Given the description of an element on the screen output the (x, y) to click on. 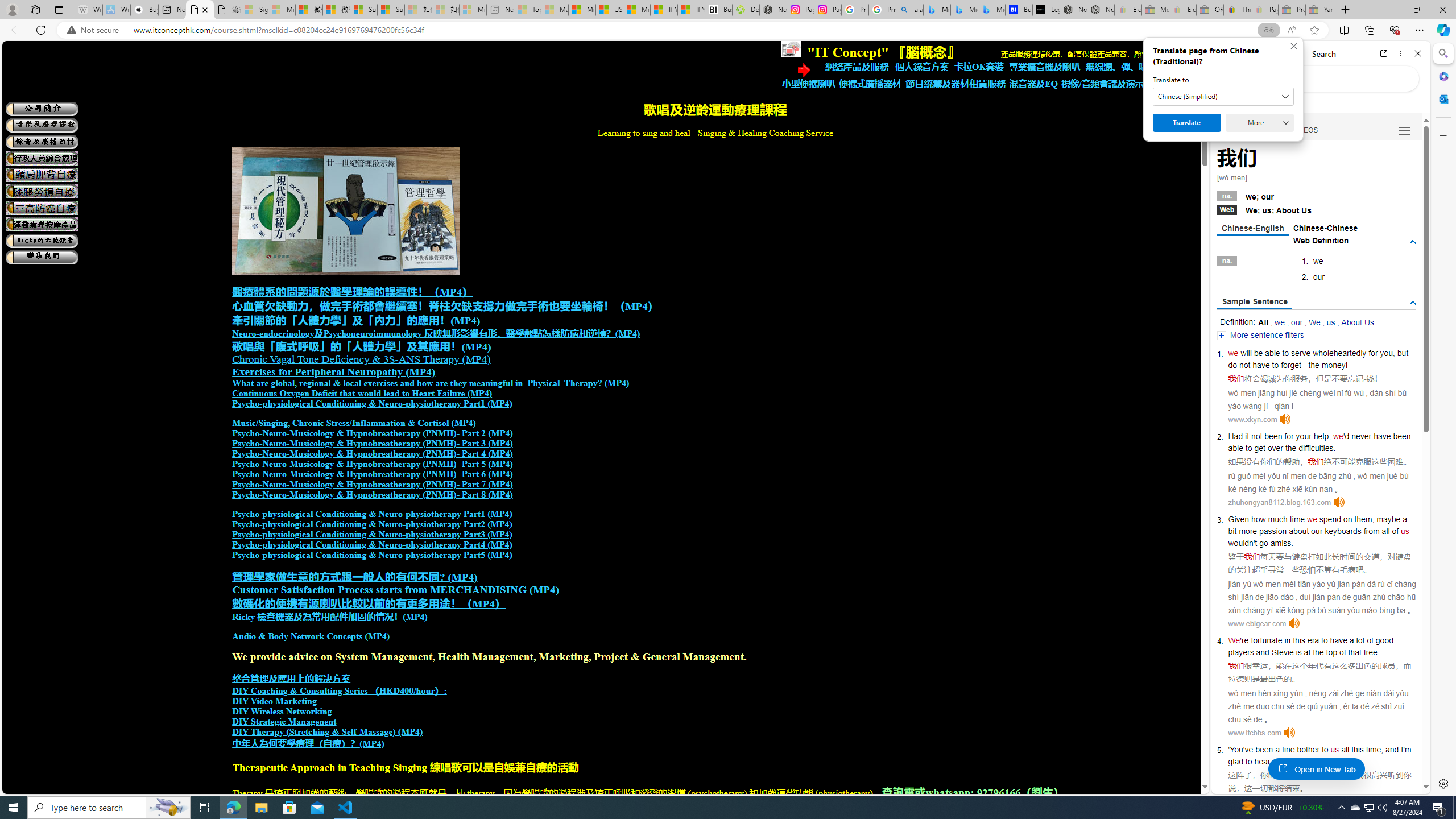
New Tab (1346, 9)
Yard, Garden & Outdoor Living - Sleeping (1319, 9)
Search the web (1326, 78)
, (1381, 749)
Chronic Vagal Tone Deficiency & 3S-ANS Therapy (MP4) (360, 359)
Translate to (1223, 96)
maybe (1387, 519)
us (1334, 749)
money (1332, 364)
Tab actions menu (58, 9)
